Given the description of an element on the screen output the (x, y) to click on. 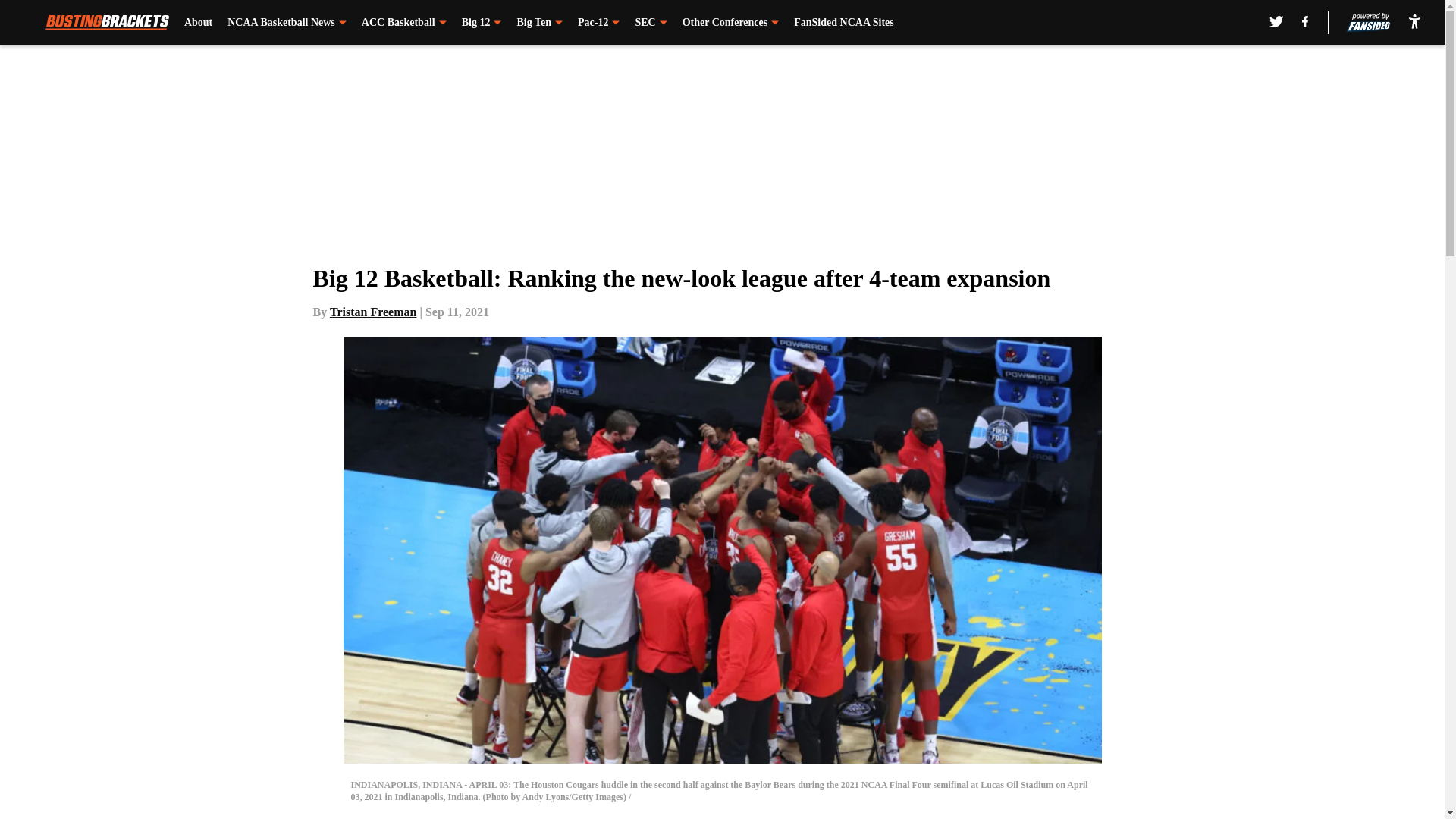
About (198, 22)
